Given the description of an element on the screen output the (x, y) to click on. 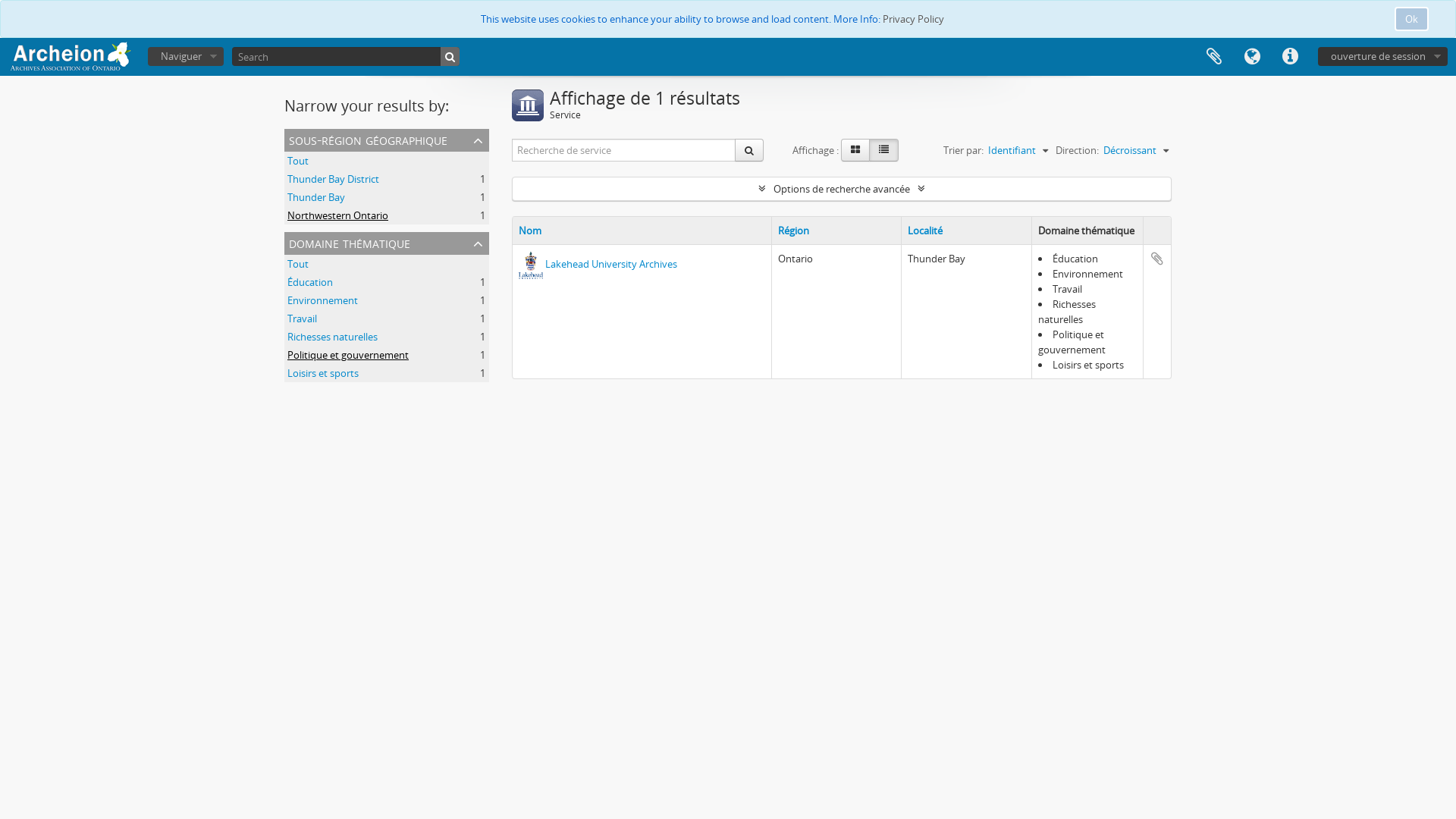
  Element type: hover (883, 149)
Thunder Bay Element type: text (316, 196)
Thunder Bay District Element type: text (333, 178)
Travail Element type: text (301, 318)
Politique et gouvernement Element type: text (347, 354)
Lakehead University Archives Element type: text (611, 263)
Ok Element type: text (1411, 18)
Presse-papier Element type: text (1214, 56)
Northwestern Ontario Element type: text (337, 215)
Ajouter au presse-papier Element type: text (1156, 258)
Richesses naturelles Element type: text (332, 336)
Nom Element type: text (529, 230)
Naviguer Element type: text (185, 56)
Tout Element type: text (297, 263)
Loisirs et sports Element type: text (322, 372)
Liens rapides Element type: text (1289, 56)
Environnement Element type: text (322, 300)
Langue Element type: text (1251, 56)
Privacy Policy Element type: text (913, 18)
Tout Element type: text (297, 160)
ouverture de session Element type: text (1382, 56)
  Element type: hover (854, 149)
